Given the description of an element on the screen output the (x, y) to click on. 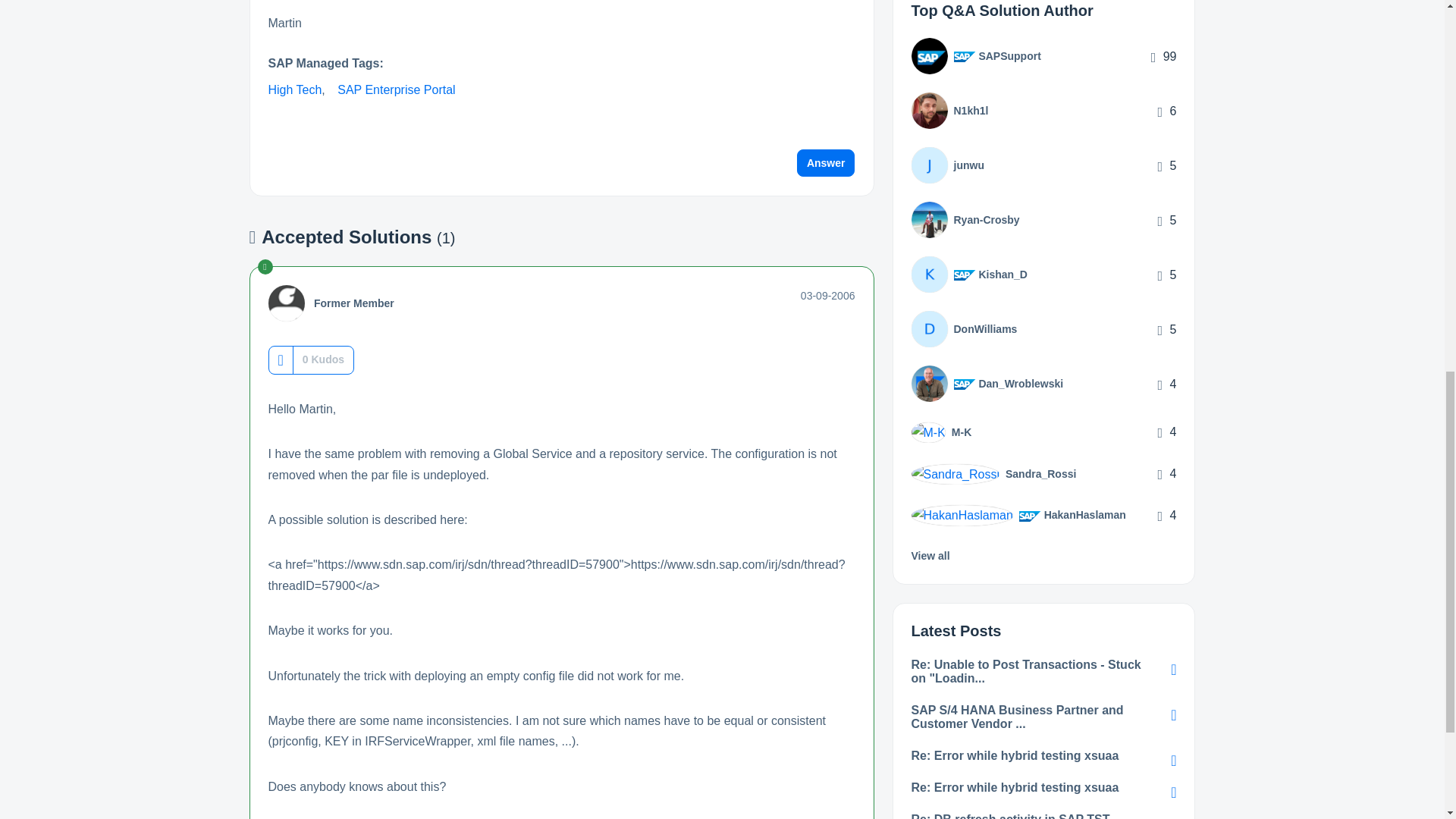
SAP Enterprise Portal (395, 89)
High Tech (294, 89)
Answer (826, 162)
The total number of kudos this post has received. (323, 359)
Posted on (828, 295)
